Given the description of an element on the screen output the (x, y) to click on. 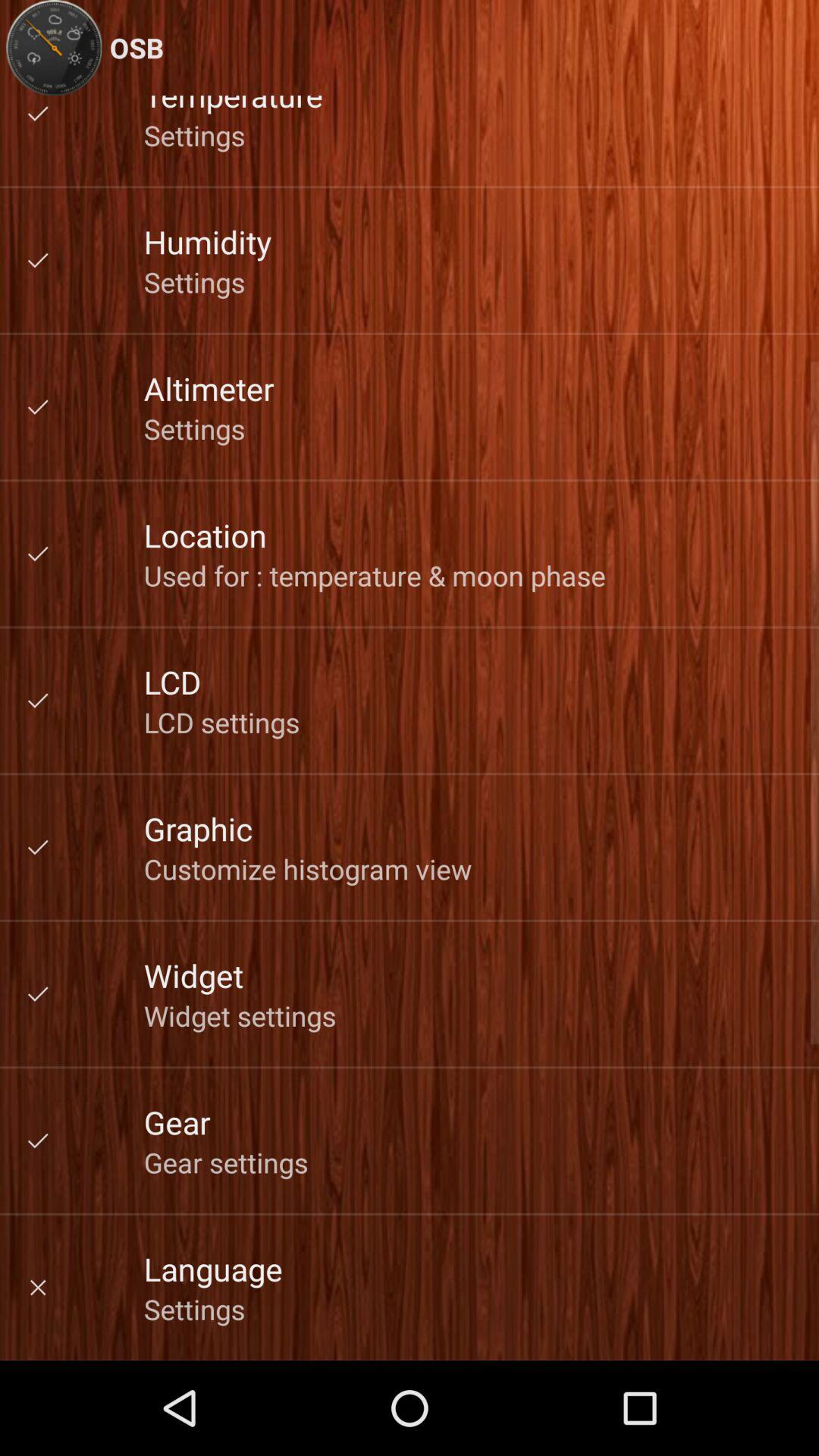
swipe to the graphic (197, 828)
